Given the description of an element on the screen output the (x, y) to click on. 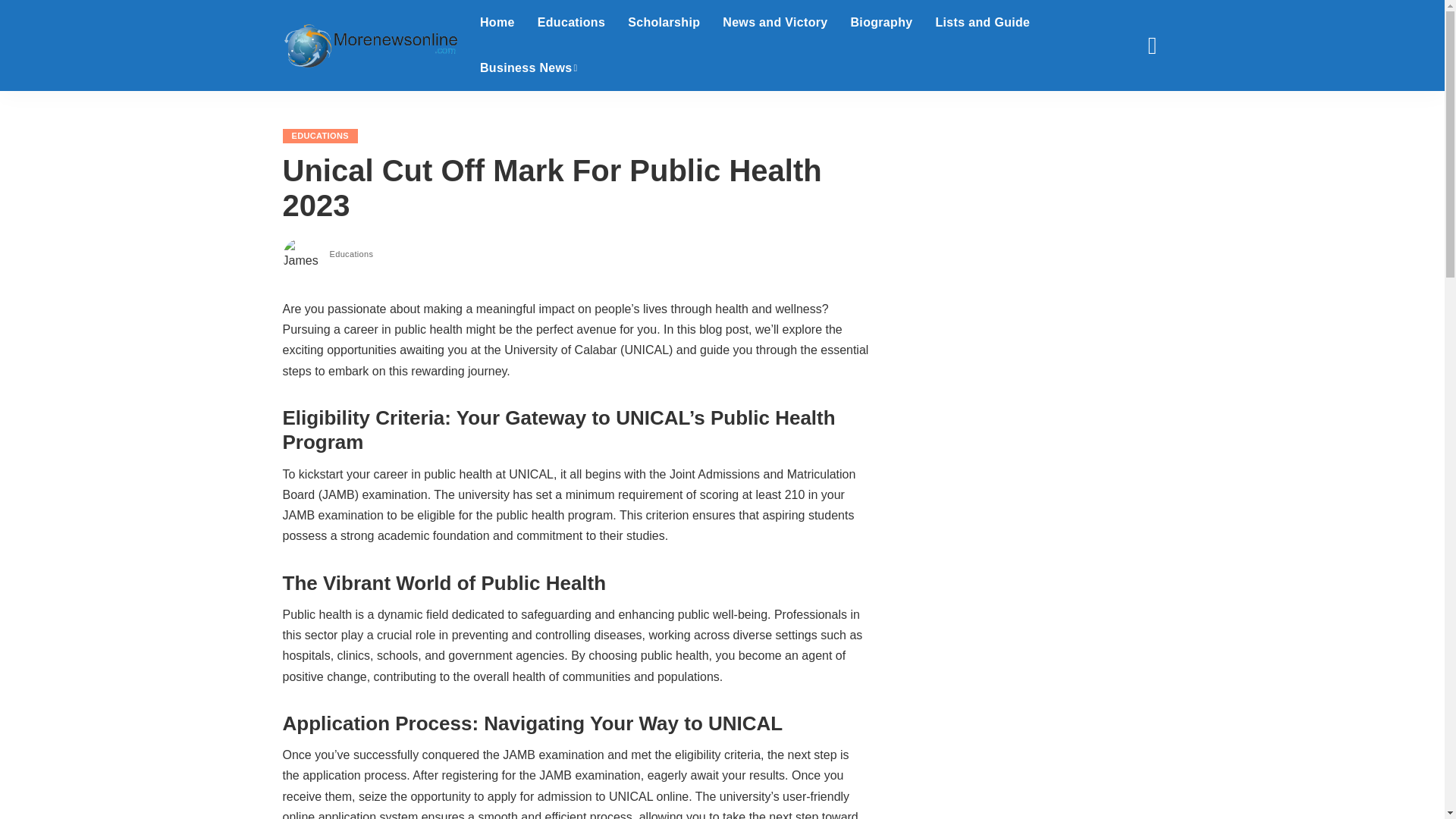
Educations (570, 22)
Home (496, 22)
Morenewsonline (369, 44)
News and Victory (774, 22)
Scholarship (663, 22)
